Given the description of an element on the screen output the (x, y) to click on. 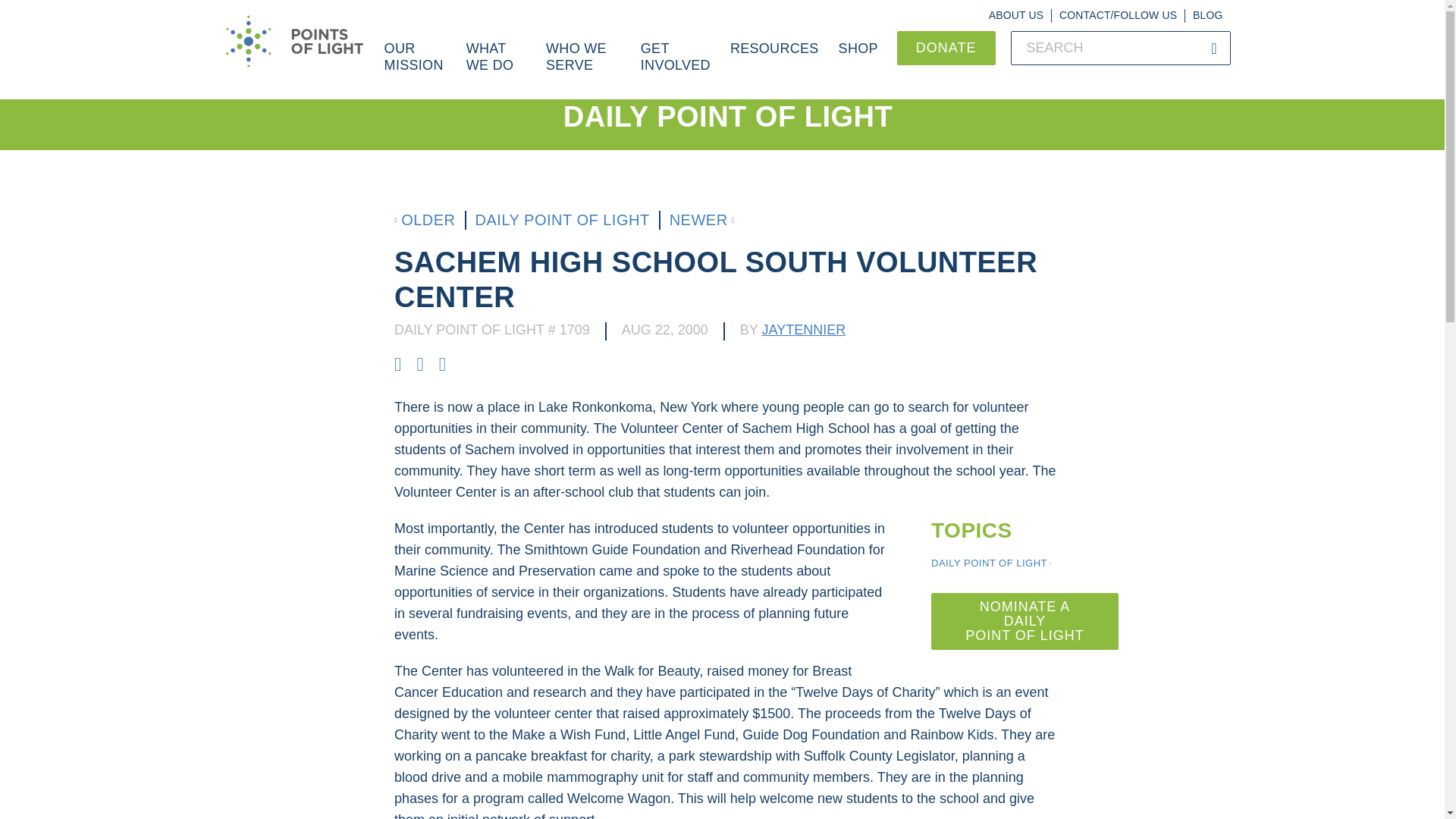
WHO WE SERVE (582, 65)
ABOUT US (1016, 15)
WHAT WE DO (496, 65)
BLOG (1207, 15)
OUR MISSION (415, 65)
